Given the description of an element on the screen output the (x, y) to click on. 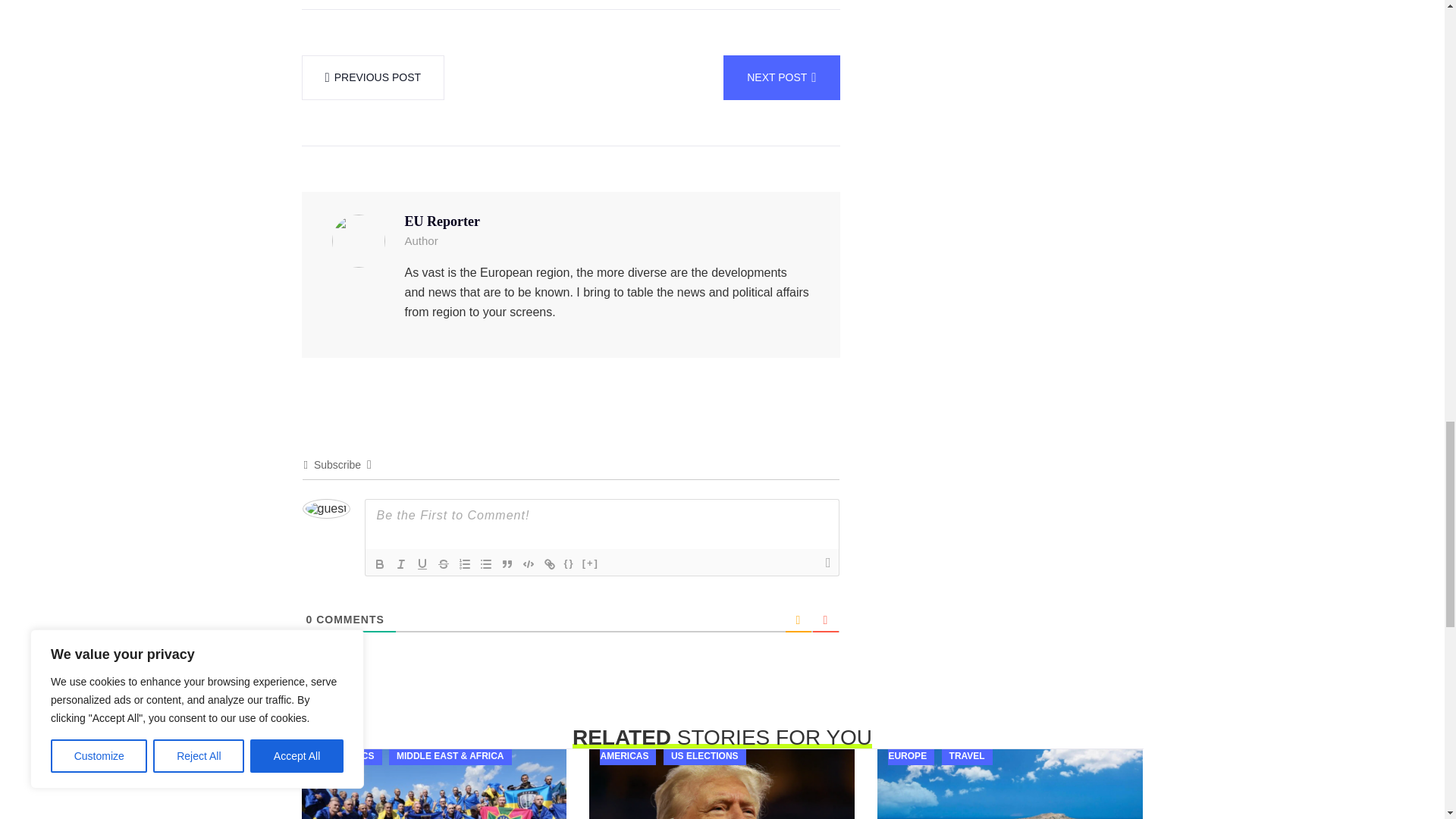
Unordered List (485, 564)
Bold (379, 564)
Strike (442, 564)
Ordered List (463, 564)
Underline (421, 564)
Blockquote (506, 564)
Italic (400, 564)
